Given the description of an element on the screen output the (x, y) to click on. 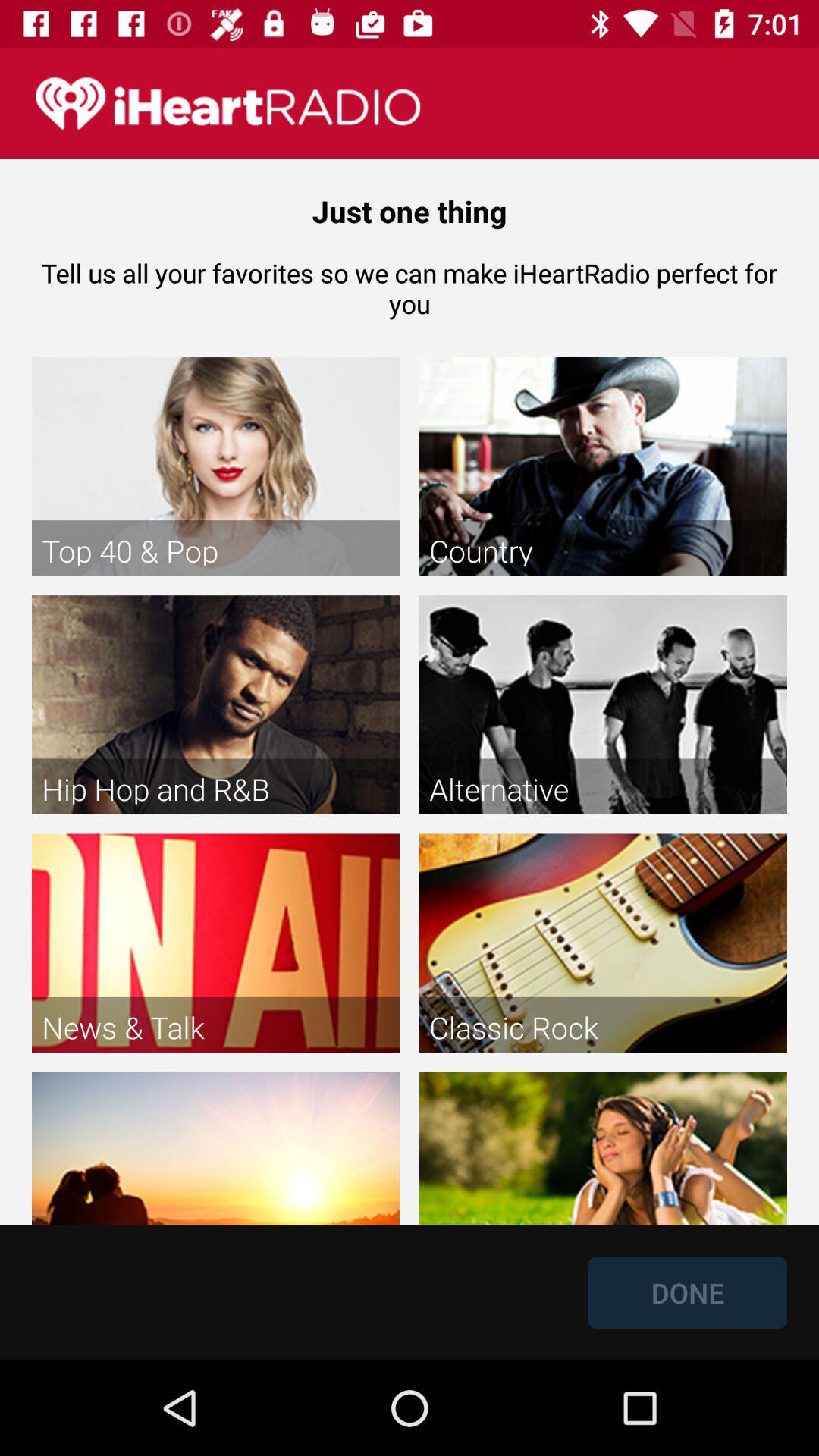
scroll until the done icon (687, 1292)
